Given the description of an element on the screen output the (x, y) to click on. 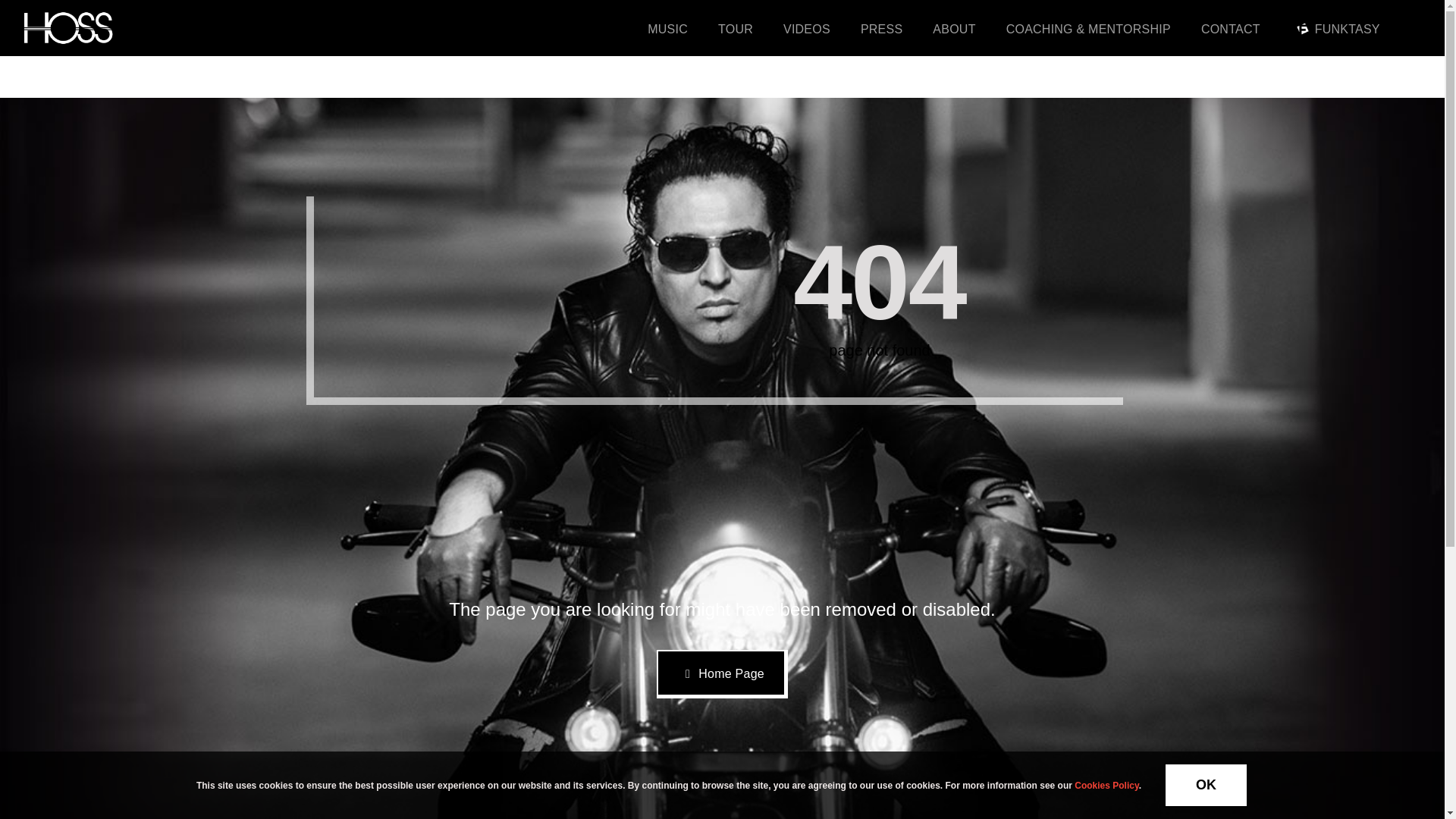
FUNKTASY (1335, 28)
VIDEOS (806, 28)
CONTACT (1230, 28)
Funktasy (1302, 28)
Home Page (721, 674)
